Given the description of an element on the screen output the (x, y) to click on. 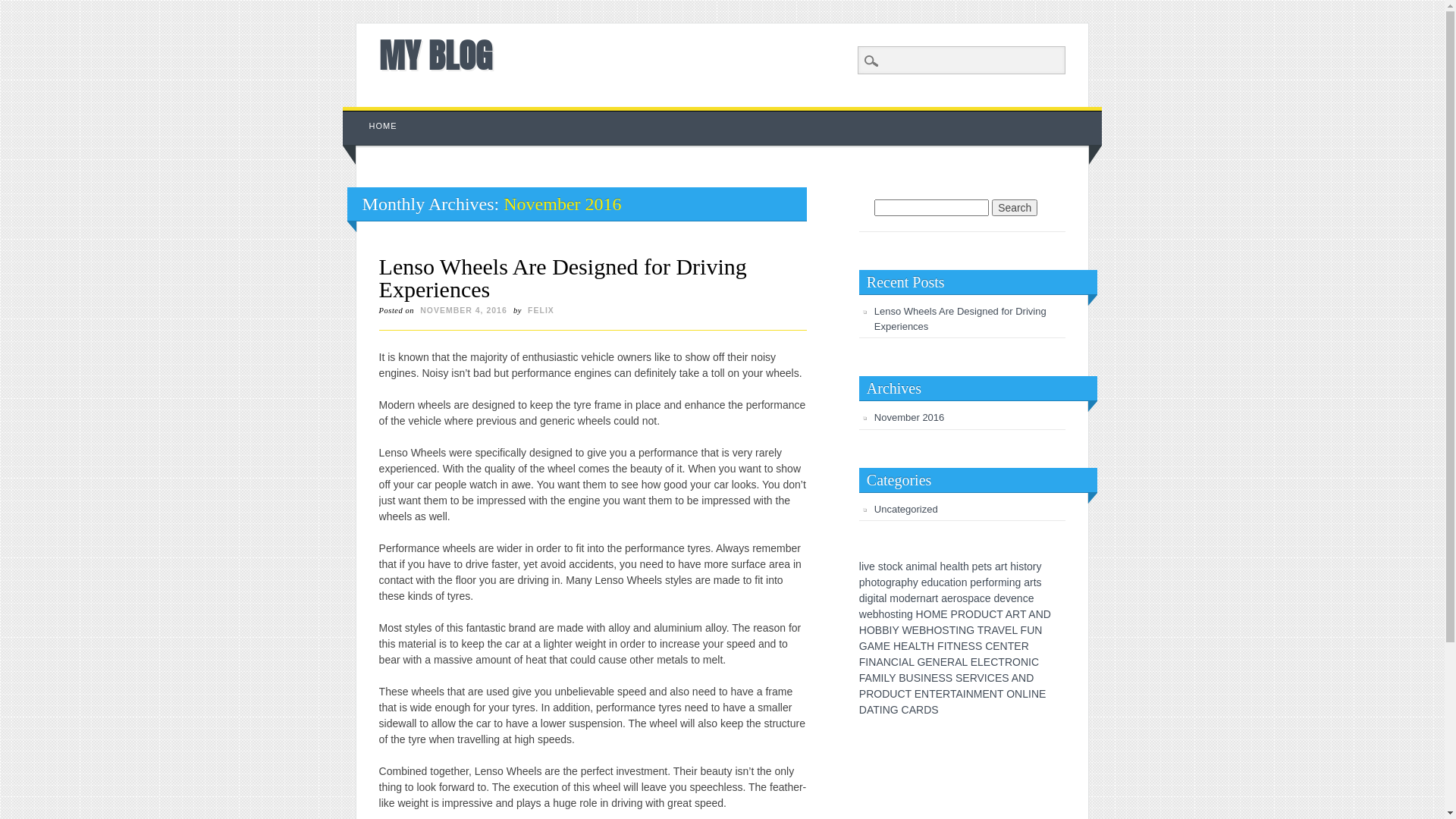
k Element type: text (899, 566)
A Element type: text (1031, 614)
R Element type: text (946, 693)
e Element type: text (1013, 598)
N Element type: text (962, 630)
H Element type: text (929, 630)
T Element type: text (953, 693)
S Element type: text (1004, 677)
T Element type: text (1022, 614)
r Element type: text (983, 582)
P Element type: text (953, 614)
g Element type: text (909, 614)
O Element type: text (927, 614)
I Element type: text (945, 646)
e Element type: text (869, 614)
L Element type: text (910, 661)
n Element type: text (1019, 598)
r Element type: text (893, 582)
L Element type: text (964, 661)
h Element type: text (881, 614)
l Element type: text (958, 566)
n Element type: text (903, 614)
T Element type: text (980, 630)
L Element type: text (1013, 630)
o Element type: text (991, 582)
e Element type: text (1031, 598)
c Element type: text (894, 566)
a Element type: text (897, 582)
n Element type: text (964, 582)
h Element type: text (966, 566)
Skip to content Element type: text (377, 114)
D Element type: text (1029, 677)
a Element type: text (908, 566)
m Element type: text (893, 598)
H Element type: text (930, 646)
I Element type: text (921, 677)
FELIX Element type: text (541, 309)
November 2016 Element type: text (909, 417)
s Element type: text (964, 598)
H Element type: text (896, 646)
B Element type: text (878, 630)
I Element type: text (880, 709)
S Element type: text (978, 646)
r Element type: text (955, 598)
O Element type: text (969, 614)
p Element type: text (970, 598)
R Element type: text (1025, 646)
S Element type: text (941, 677)
E Element type: text (943, 661)
G Element type: text (970, 630)
T Element type: text (931, 693)
Y Element type: text (894, 630)
R Element type: text (973, 677)
M Element type: text (878, 646)
C Element type: text (900, 693)
R Element type: text (919, 709)
E Element type: text (995, 646)
e Element type: text (948, 566)
e Element type: text (980, 566)
L Element type: text (980, 661)
s Element type: text (892, 614)
a Element type: text (931, 566)
a Element type: text (954, 566)
t Element type: text (1005, 566)
I Element type: text (956, 630)
I Element type: text (964, 693)
o Element type: text (959, 598)
V Element type: text (980, 677)
C Element type: text (990, 677)
h Element type: text (943, 566)
s Element type: text (1020, 566)
d Element type: text (996, 598)
t Element type: text (951, 582)
A Element type: text (870, 646)
S Element type: text (934, 709)
t Element type: text (884, 566)
C Element type: text (905, 709)
HOME Element type: text (383, 125)
d Element type: text (862, 598)
o Element type: text (887, 614)
E Element type: text (985, 693)
y Element type: text (1038, 566)
E Element type: text (963, 646)
d Element type: text (907, 598)
t Element type: text (961, 566)
T Element type: text (1000, 661)
b Element type: text (875, 614)
N Element type: text (1022, 677)
o Element type: text (882, 582)
o Element type: text (889, 566)
i Element type: text (1017, 566)
R Element type: text (1008, 661)
B Element type: text (922, 630)
v Element type: text (1007, 598)
A Element type: text (1014, 677)
t Element type: text (984, 566)
o Element type: text (1029, 566)
U Element type: text (1030, 630)
N Element type: text (871, 661)
M Element type: text (936, 614)
N Element type: text (886, 709)
s Element type: text (880, 566)
p Element type: text (903, 582)
E Element type: text (997, 677)
r Element type: text (1034, 566)
e Element type: text (988, 598)
C Element type: text (988, 646)
E Element type: text (1016, 646)
R Element type: text (950, 661)
p Element type: text (972, 582)
r Element type: text (995, 582)
r Element type: text (933, 598)
I Element type: text (1029, 693)
O Element type: text (937, 630)
i Element type: text (918, 566)
A Element type: text (957, 661)
I Element type: text (899, 661)
o Element type: text (901, 598)
t Element type: text (936, 598)
S Element type: text (948, 677)
g Element type: text (870, 598)
u Element type: text (935, 582)
g Element type: text (888, 582)
C Element type: text (1034, 661)
r Element type: text (917, 598)
l Element type: text (860, 566)
N Element type: text (956, 646)
n Element type: text (922, 598)
N Element type: text (924, 693)
A Element type: text (912, 709)
H Element type: text (862, 630)
S Element type: text (944, 630)
S Element type: text (958, 677)
E Element type: text (886, 646)
s Element type: text (988, 566)
r Element type: text (1002, 566)
N Element type: text (887, 661)
I Element type: text (882, 677)
d Element type: text (929, 582)
M Element type: text (876, 677)
T Element type: text (1000, 693)
h Element type: text (909, 582)
F Element type: text (862, 677)
e Element type: text (872, 566)
a Element type: text (997, 566)
N Element type: text (969, 693)
A Element type: text (878, 661)
N Element type: text (927, 677)
Lenso Wheels Are Designed for Driving Experiences Element type: text (562, 277)
S Element type: text (971, 646)
e Element type: text (950, 598)
m Element type: text (1002, 582)
f Element type: text (986, 582)
o Element type: text (958, 582)
G Element type: text (920, 661)
E Element type: text (986, 661)
t Element type: text (877, 582)
w Element type: text (862, 614)
o Element type: text (873, 582)
O Element type: text (1016, 661)
r Element type: text (1031, 582)
A Element type: text (904, 661)
T Element type: text (923, 646)
L Element type: text (917, 646)
T Element type: text (908, 693)
s Element type: text (1038, 582)
E Element type: text (915, 630)
i Element type: text (954, 582)
v Element type: text (866, 566)
D Element type: text (977, 614)
E Element type: text (1041, 693)
a Element type: text (976, 598)
N Element type: text (936, 661)
F Element type: text (940, 646)
c Element type: text (941, 582)
t Element type: text (1024, 566)
a Element type: text (881, 598)
R Element type: text (987, 630)
e Element type: text (924, 582)
l Element type: text (885, 598)
Uncategorized Element type: text (906, 508)
c Element type: text (1025, 598)
A Element type: text (910, 646)
a Element type: text (1026, 582)
N Element type: text (1039, 614)
N Element type: text (1003, 646)
h Element type: text (868, 582)
A Element type: text (994, 630)
E Element type: text (934, 677)
m Element type: text (923, 566)
t Element type: text (876, 598)
N Element type: text (1024, 661)
A Element type: text (1008, 614)
n Element type: text (1012, 582)
B Element type: text (901, 677)
N Element type: text (1034, 693)
U Element type: text (893, 693)
V Element type: text (1000, 630)
E Element type: text (973, 661)
B Element type: text (884, 630)
G Element type: text (894, 709)
t Element type: text (1034, 582)
E Element type: text (903, 646)
g Element type: text (1018, 582)
L Element type: text (1025, 693)
N Element type: text (1018, 693)
A Element type: text (868, 677)
L Element type: text (885, 677)
O Element type: text (870, 630)
D Element type: text (1047, 614)
n Element type: text (914, 566)
T Element type: text (1010, 646)
T Element type: text (875, 709)
D Element type: text (885, 693)
T Element type: text (999, 614)
I Element type: text (985, 677)
E Element type: text (943, 614)
e Element type: text (1002, 598)
c Element type: text (982, 598)
A Element type: text (958, 693)
C Element type: text (993, 661)
U Element type: text (909, 677)
G Element type: text (863, 646)
W Element type: text (906, 630)
i Element type: text (866, 598)
E Element type: text (917, 693)
N Element type: text (993, 693)
Lenso Wheels Are Designed for Driving Experiences Element type: text (960, 318)
Y Element type: text (891, 677)
R Element type: text (961, 614)
U Element type: text (984, 614)
A Element type: text (869, 709)
F Element type: text (862, 661)
N Element type: text (1037, 630)
S Element type: text (916, 677)
MY BLOG Element type: text (435, 55)
i Element type: text (874, 598)
E Element type: text (928, 661)
p Element type: text (862, 582)
P Element type: text (862, 693)
i Element type: text (1008, 582)
E Element type: text (938, 693)
I Element type: text (1029, 661)
M Element type: text (977, 693)
y Element type: text (915, 582)
R Element type: text (869, 693)
E Element type: text (1007, 630)
E Element type: text (965, 677)
e Element type: text (978, 582)
T Element type: text (950, 646)
O Element type: text (1010, 693)
NOVEMBER 4, 2016 Element type: text (463, 309)
t Element type: text (896, 614)
H Element type: text (919, 614)
O Element type: text (877, 693)
D Element type: text (927, 709)
T Element type: text (952, 630)
h Element type: text (1013, 566)
C Element type: text (894, 661)
R Element type: text (1015, 614)
D Element type: text (862, 709)
i Element type: text (862, 566)
F Element type: text (1023, 630)
I Element type: text (889, 630)
i Element type: text (899, 614)
C Element type: text (992, 614)
a Element type: text (944, 598)
e Element type: text (913, 598)
a Element type: text (947, 582)
Search Element type: text (22, 8)
Search Element type: text (1014, 207)
a Element type: text (928, 598)
I Element type: text (866, 661)
l Element type: text (935, 566)
p Element type: text (975, 566)
